Given the description of an element on the screen output the (x, y) to click on. 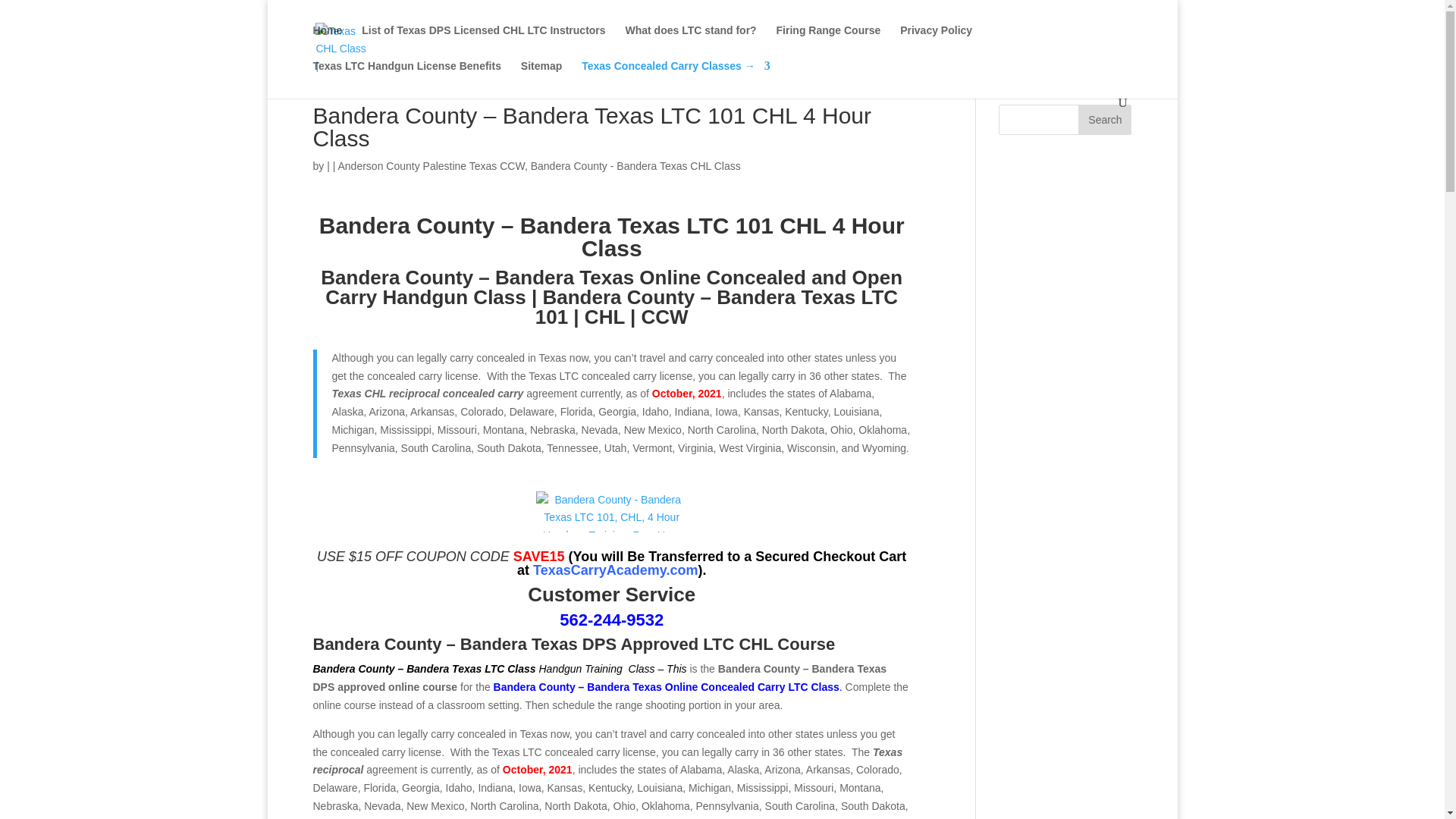
What does LTC stand for? (689, 42)
Search (1104, 119)
Privacy Policy (935, 42)
Firing Range Course (828, 42)
Home (327, 42)
List of Texas DPS Licensed CHL LTC Instructors (483, 42)
Sitemap (541, 78)
Texas LTC Handgun License Benefits (406, 78)
